Given the description of an element on the screen output the (x, y) to click on. 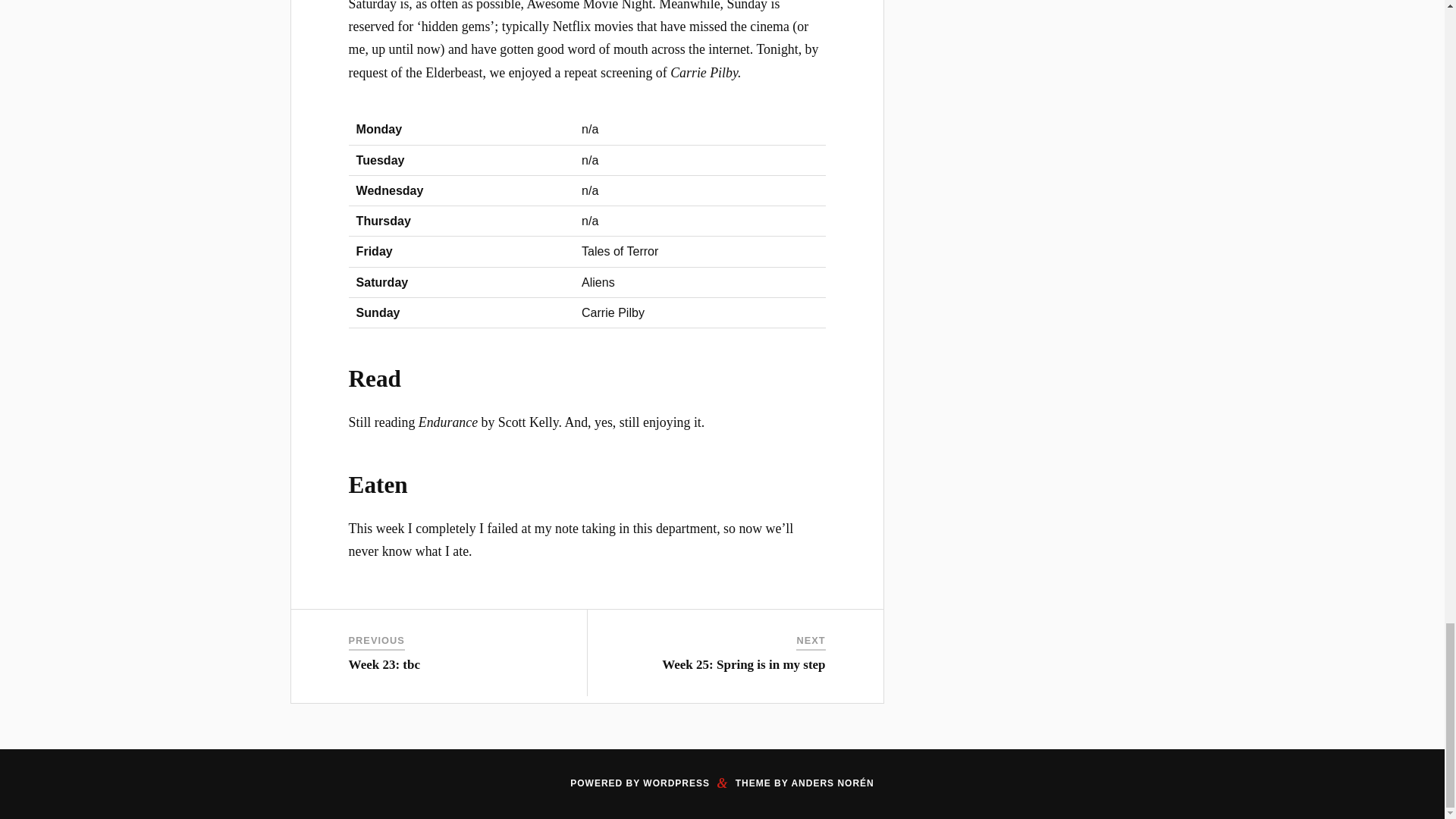
Week 23: tbc (384, 664)
Week 25: Spring is in my step (743, 664)
WORDPRESS (676, 783)
